Given the description of an element on the screen output the (x, y) to click on. 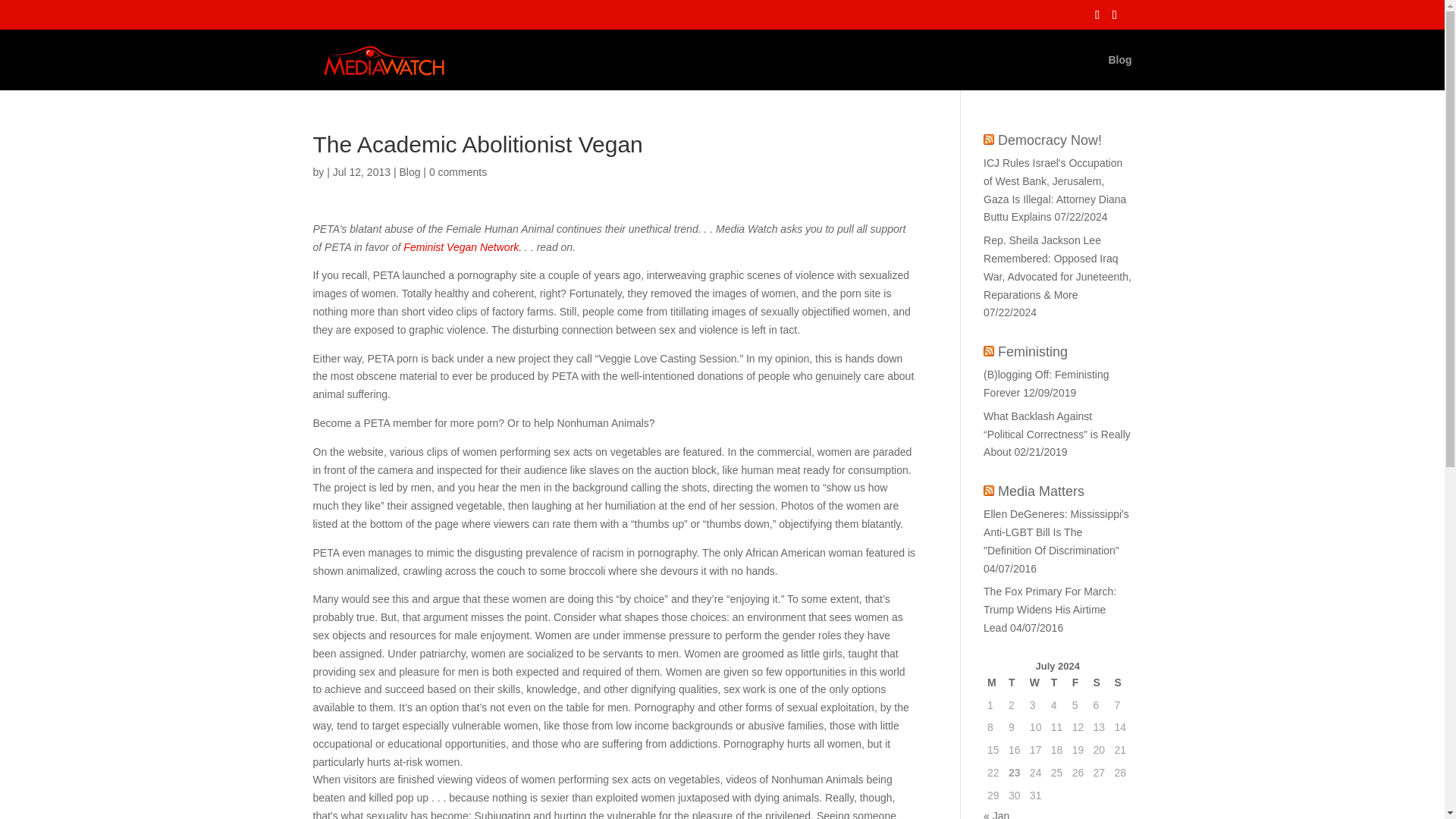
Blog (409, 172)
Friday (1078, 682)
Thursday (1057, 682)
Wednesday (1036, 682)
The Fox Primary For March: Trump Widens His Airtime Lead (1050, 609)
0 comments (457, 172)
Sunday (1120, 682)
Media Matters (1040, 491)
Democracy Now! (1049, 140)
Monday (994, 682)
Saturday (1099, 682)
Tuesday (1015, 682)
Feministing (1032, 351)
